Given the description of an element on the screen output the (x, y) to click on. 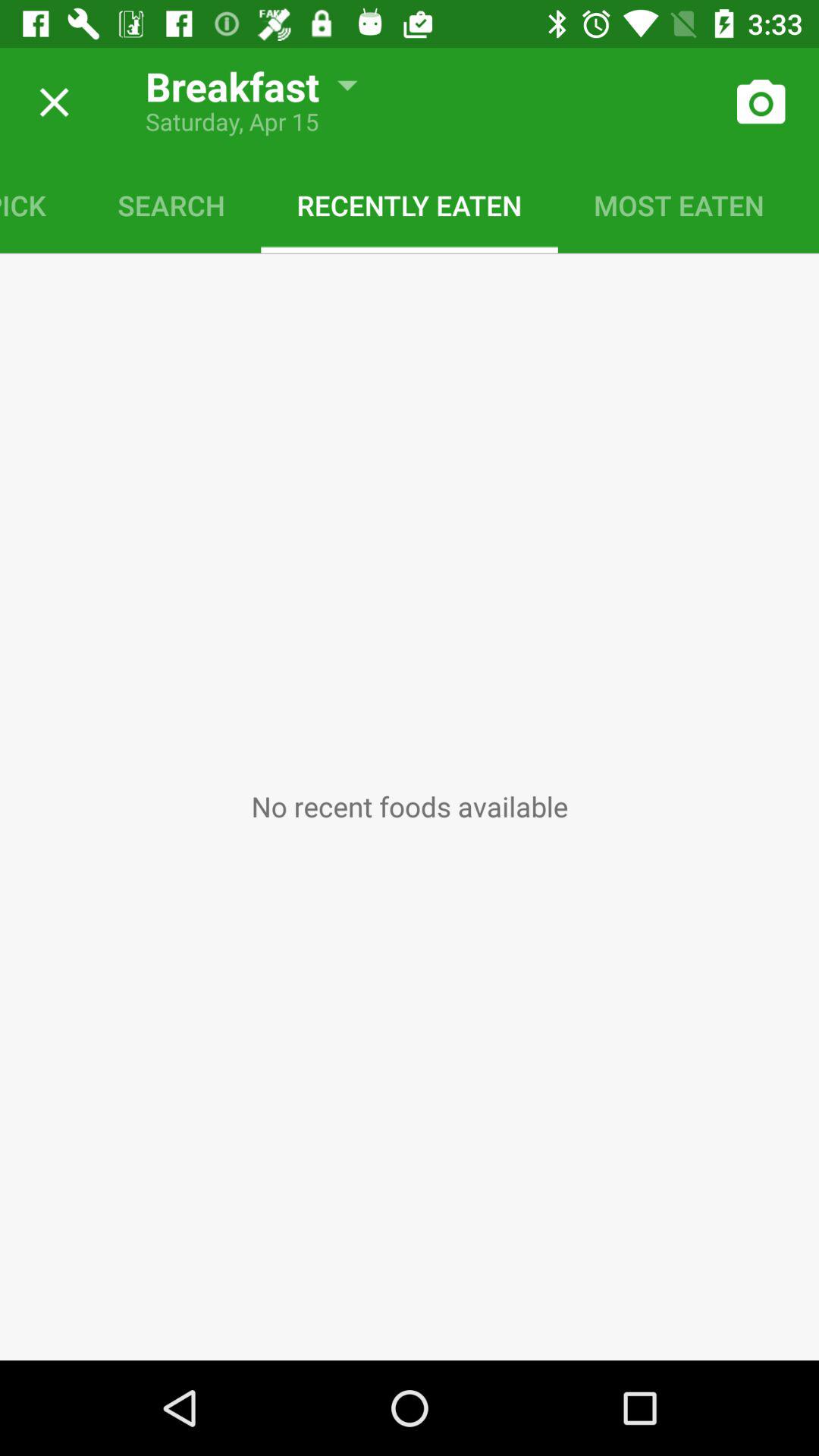
swipe to quick pick (40, 205)
